Given the description of an element on the screen output the (x, y) to click on. 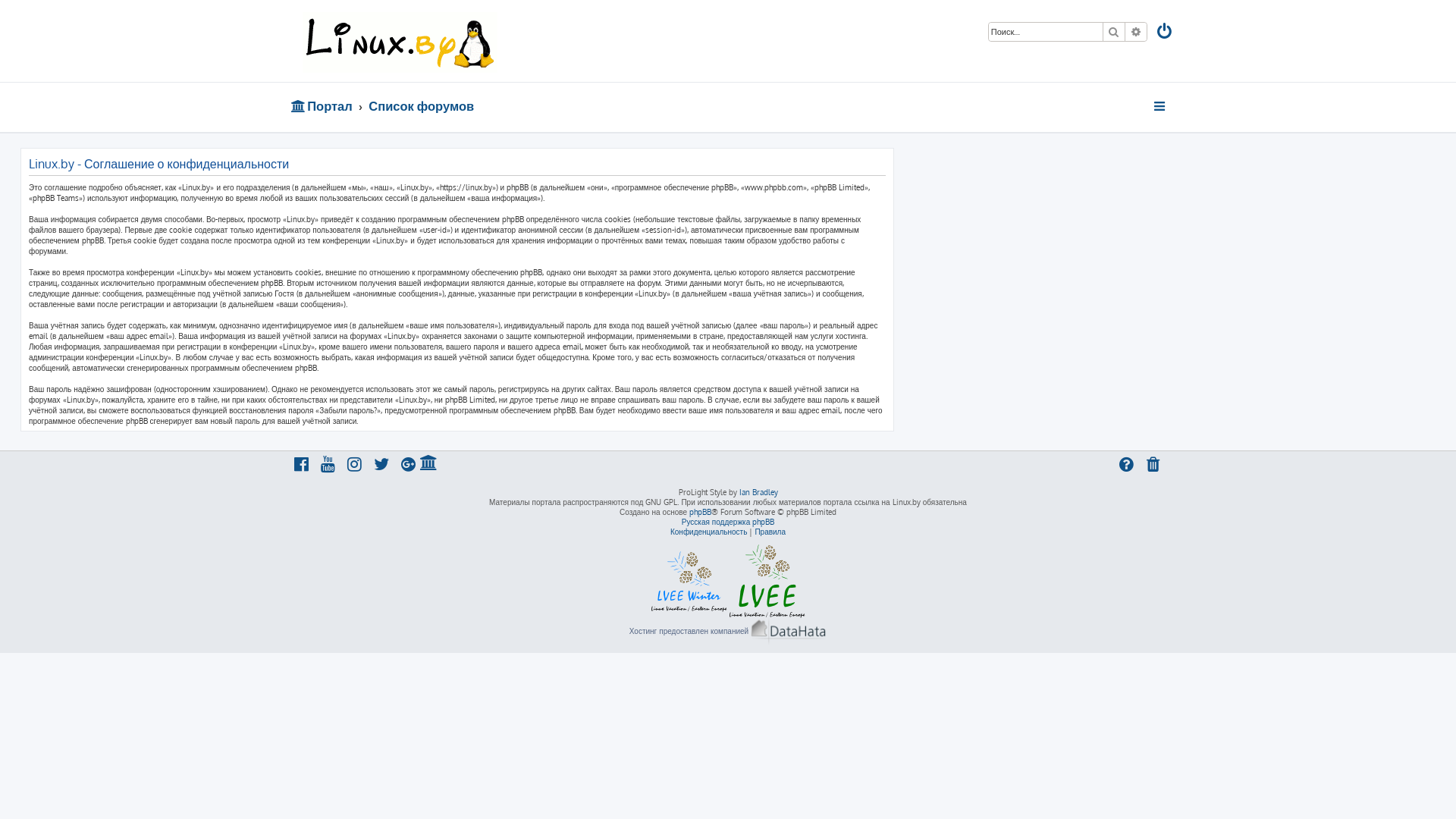
LVEE Element type: hover (767, 581)
Google+ Element type: hover (408, 465)
Instagram Element type: hover (355, 465)
LVEE Winter Element type: hover (688, 581)
phpBB Element type: text (700, 512)
Ian Bradley Element type: text (757, 492)
YouTube Element type: hover (327, 465)
Twitter Element type: hover (381, 465)
Facebook Element type: hover (301, 465)
